Given the description of an element on the screen output the (x, y) to click on. 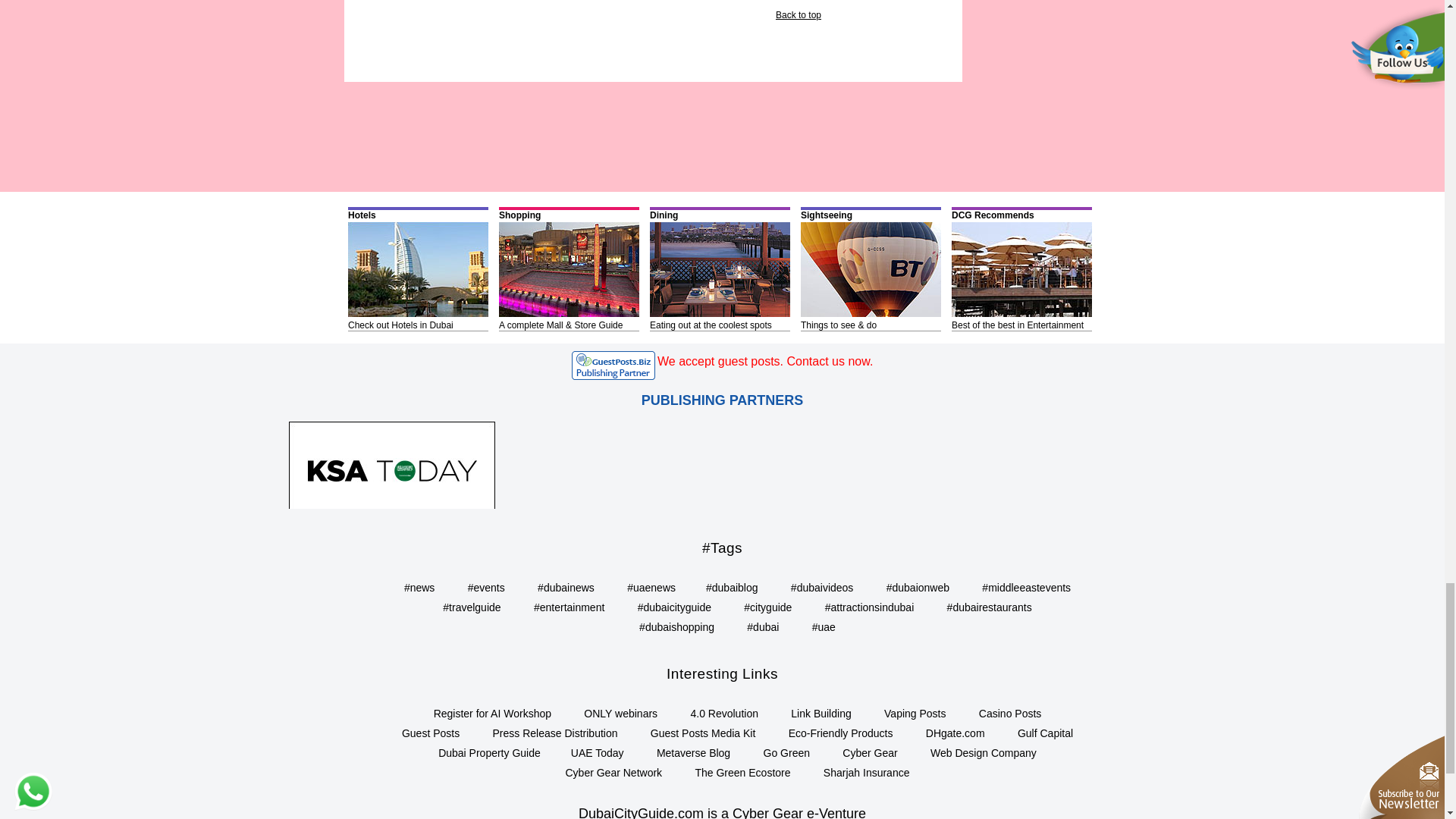
4.0 Revolution (724, 713)
Register for AI Workshop by Cyber Gear (492, 713)
ONLY webinars (620, 713)
